Given the description of an element on the screen output the (x, y) to click on. 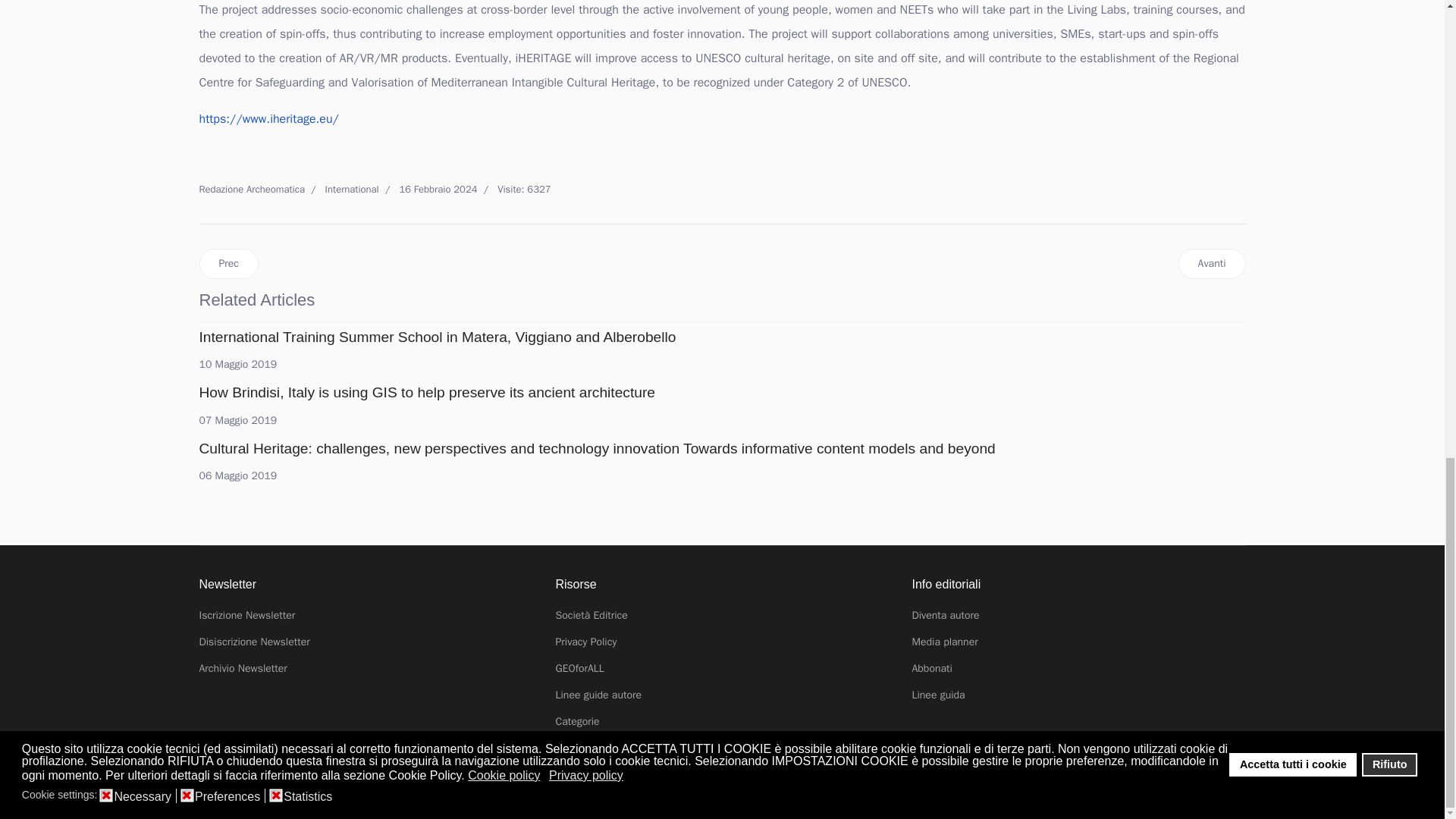
Pubblicato: 06 Maggio 2019 (237, 475)
Pubblicato: 07 Maggio 2019 (237, 420)
Pubblicato: 10 Maggio 2019 (237, 364)
Scritto da Redazione Archeomatica (251, 189)
Pubblicato: 16 Febbraio 2024 (427, 189)
Categoria: International (341, 189)
